Given the description of an element on the screen output the (x, y) to click on. 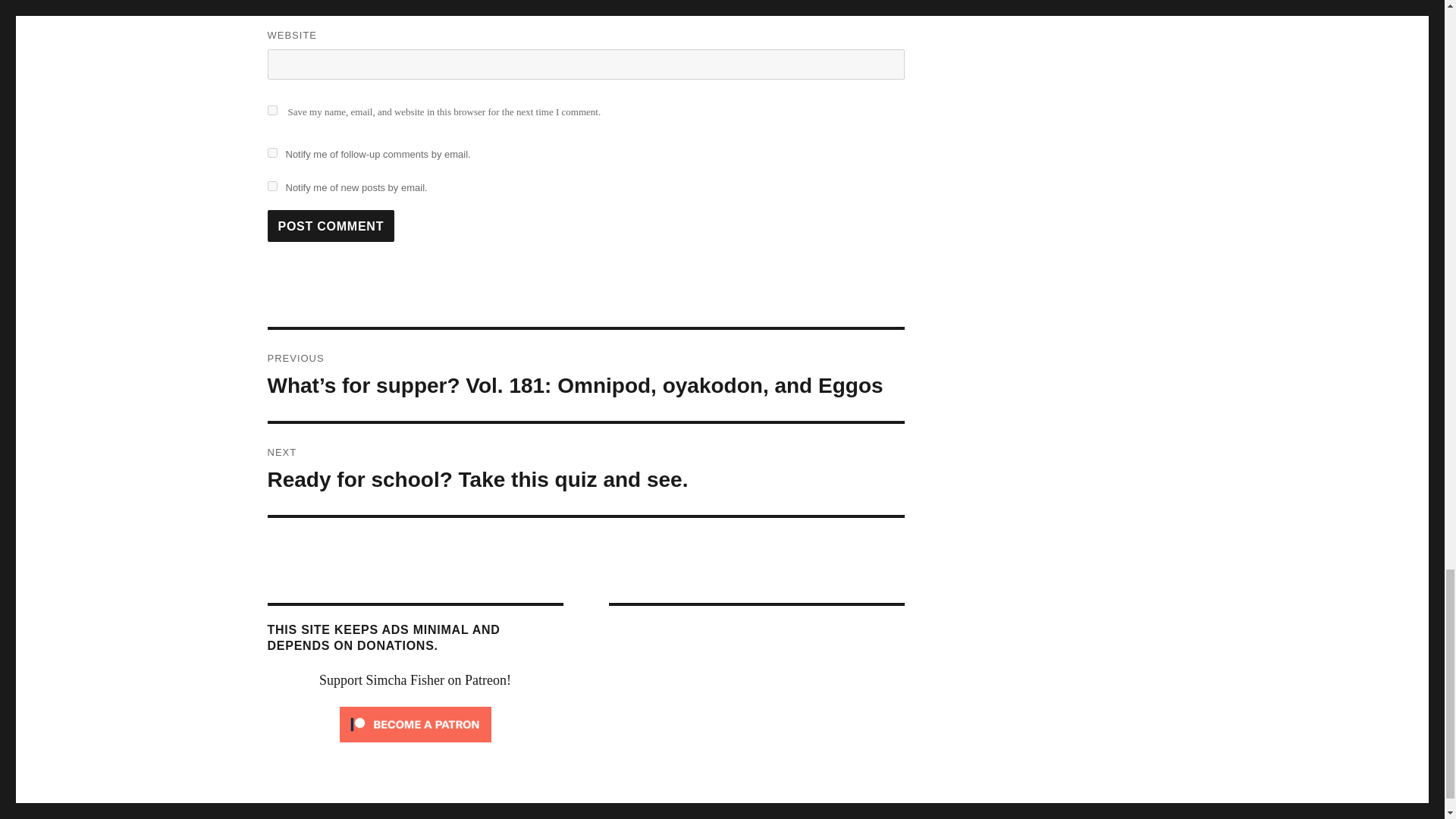
subscribe (271, 153)
Post Comment (330, 225)
subscribe (271, 185)
Post Comment (330, 225)
yes (585, 469)
